Given the description of an element on the screen output the (x, y) to click on. 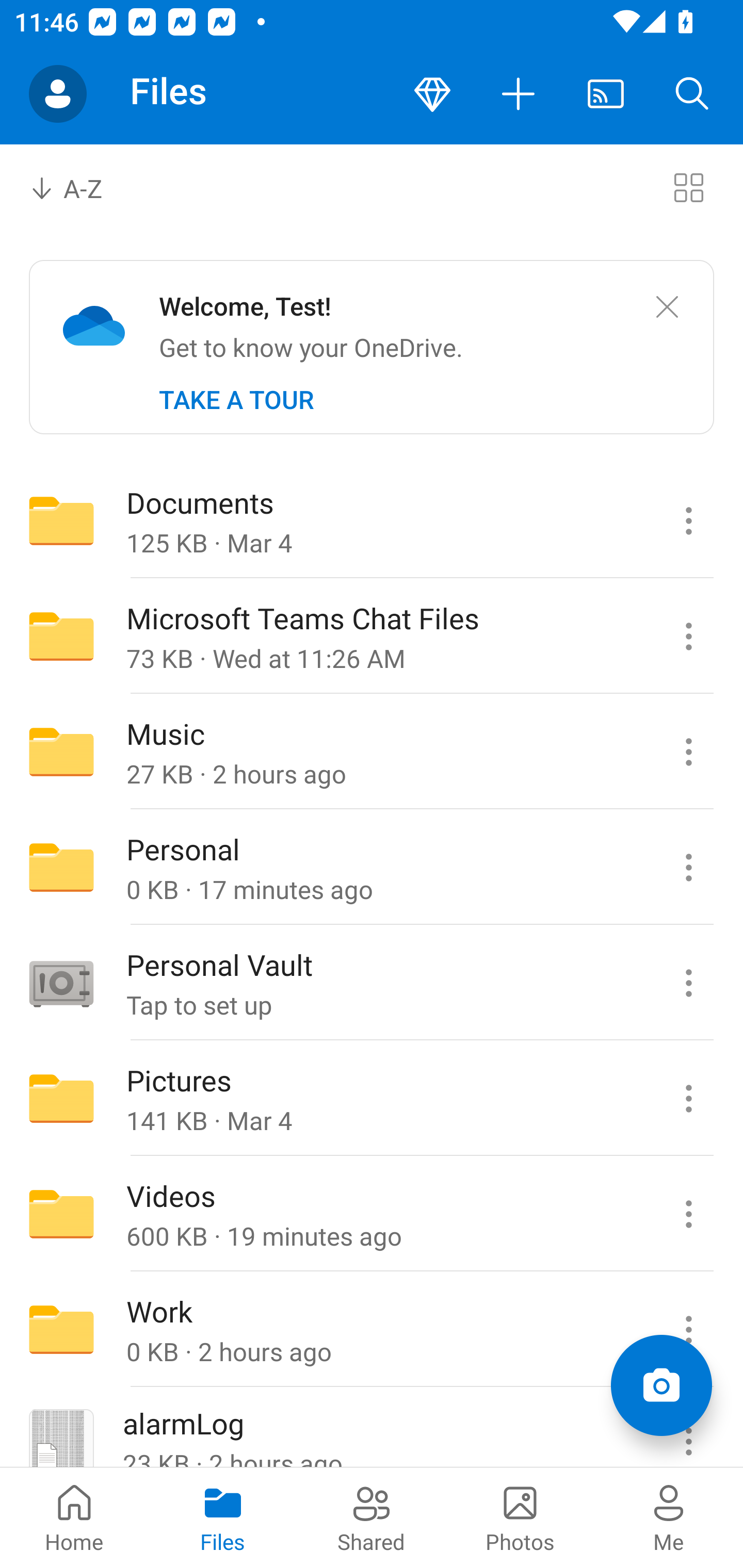
Account switcher (57, 93)
Cast. Disconnected (605, 93)
Premium button (432, 93)
More actions button (518, 93)
Search button (692, 93)
A-Z Sort by combo box, sort by name, A to Z (80, 187)
Switch to tiles view (688, 187)
Close (667, 307)
TAKE A TOUR (236, 399)
Folder Documents 125 KB · Mar 4 Documents commands (371, 520)
Documents commands (688, 520)
Microsoft Teams Chat Files commands (688, 636)
Folder Music 27 KB · 2 hours ago Music commands (371, 751)
Music commands (688, 751)
Personal commands (688, 867)
Personal Vault commands (688, 983)
Folder Pictures 141 KB · Mar 4 Pictures commands (371, 1099)
Pictures commands (688, 1099)
Videos commands (688, 1214)
Folder Work 0 KB · 2 hours ago Work commands (371, 1329)
Work commands (688, 1329)
Add items Scan (660, 1385)
alarmLog commands (688, 1427)
Home pivot Home (74, 1517)
Shared pivot Shared (371, 1517)
Photos pivot Photos (519, 1517)
Me pivot Me (668, 1517)
